Given the description of an element on the screen output the (x, y) to click on. 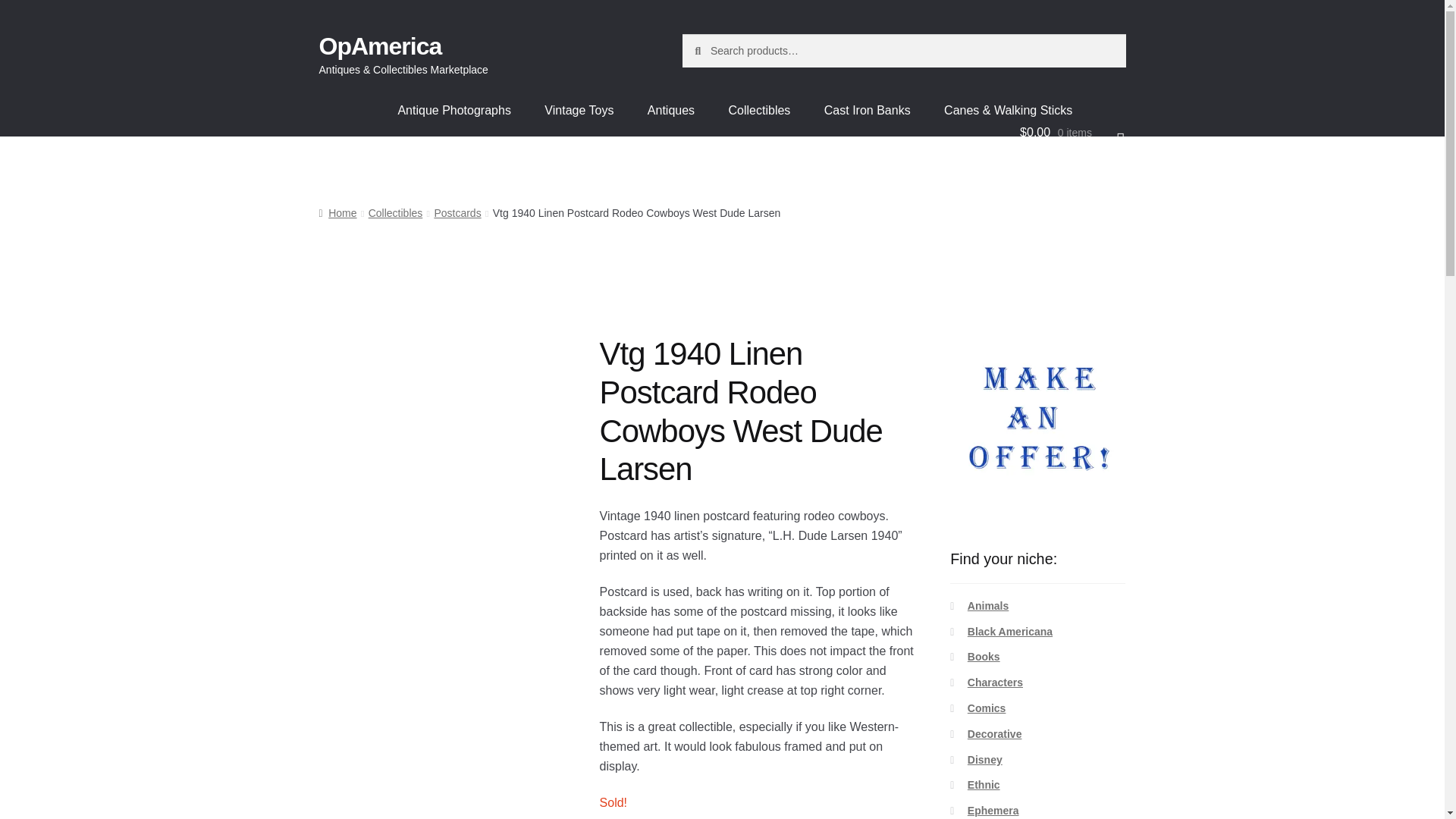
OpAmerica (380, 45)
Collectibles (395, 213)
Animals (988, 605)
Antique Photographs (453, 110)
Books (984, 656)
Cast Iron Banks (867, 110)
Antiques (670, 110)
Characters (995, 682)
Vintage Toys (578, 110)
Postcards (456, 213)
Collectibles (759, 110)
Make an Offer (1037, 422)
Home (337, 213)
View your shopping cart (1071, 132)
Black Americana (1010, 631)
